Given the description of an element on the screen output the (x, y) to click on. 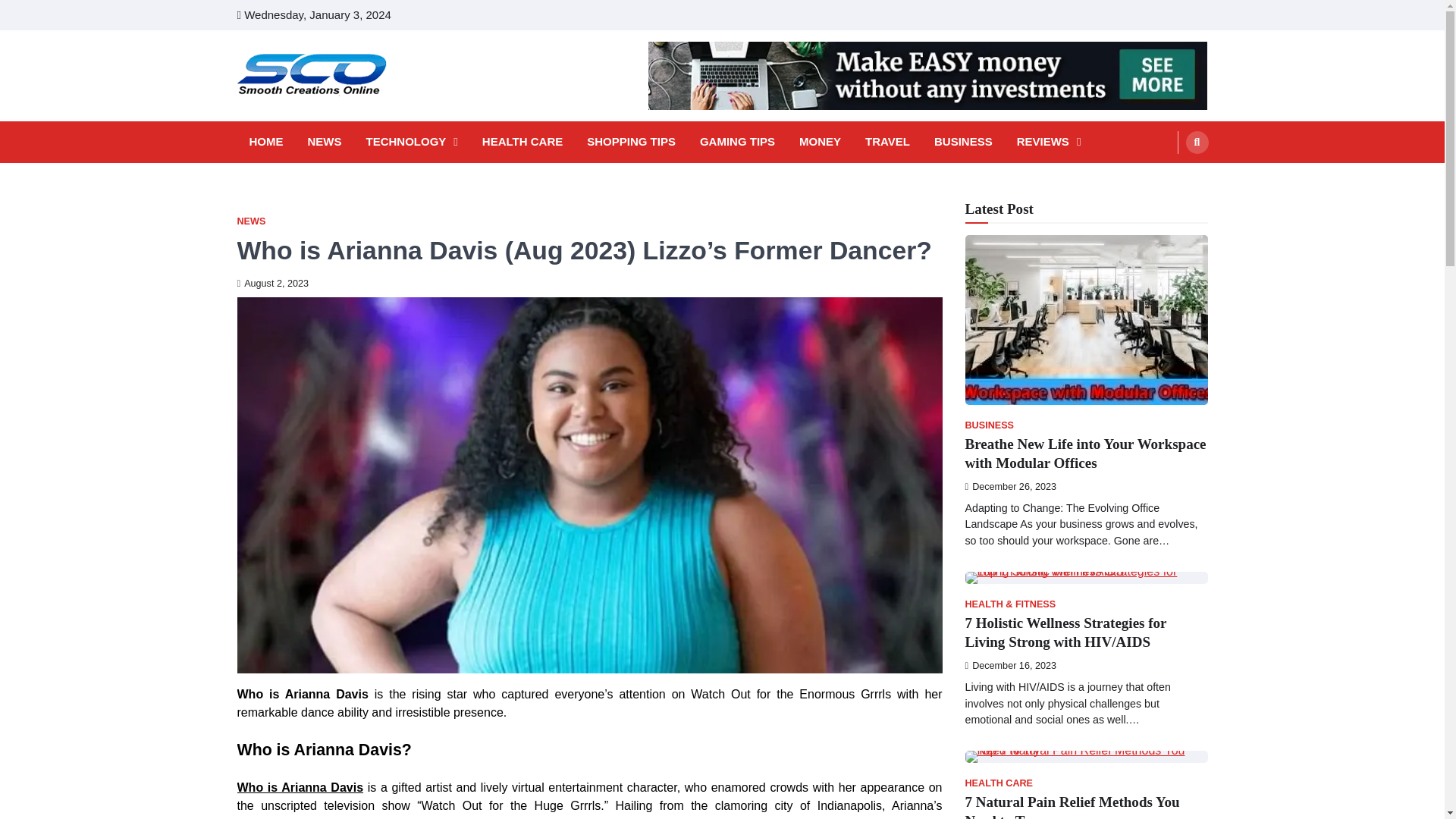
August 2, 2023 (271, 283)
GAMING TIPS (737, 141)
Breathe New Life into Your Workspace with Modular Offices (1084, 452)
HOME (265, 141)
HEALTH CARE (997, 783)
7 Natural Pain Relief Methods You Need to Try (1071, 806)
NEWS (324, 141)
BUSINESS (963, 141)
REVIEWS (1048, 141)
SHOPPING TIPS (630, 141)
Search (1168, 177)
TECHNOLOGY (411, 141)
NEWS (249, 221)
HEALTH CARE (522, 141)
December 26, 2023 (1010, 486)
